Given the description of an element on the screen output the (x, y) to click on. 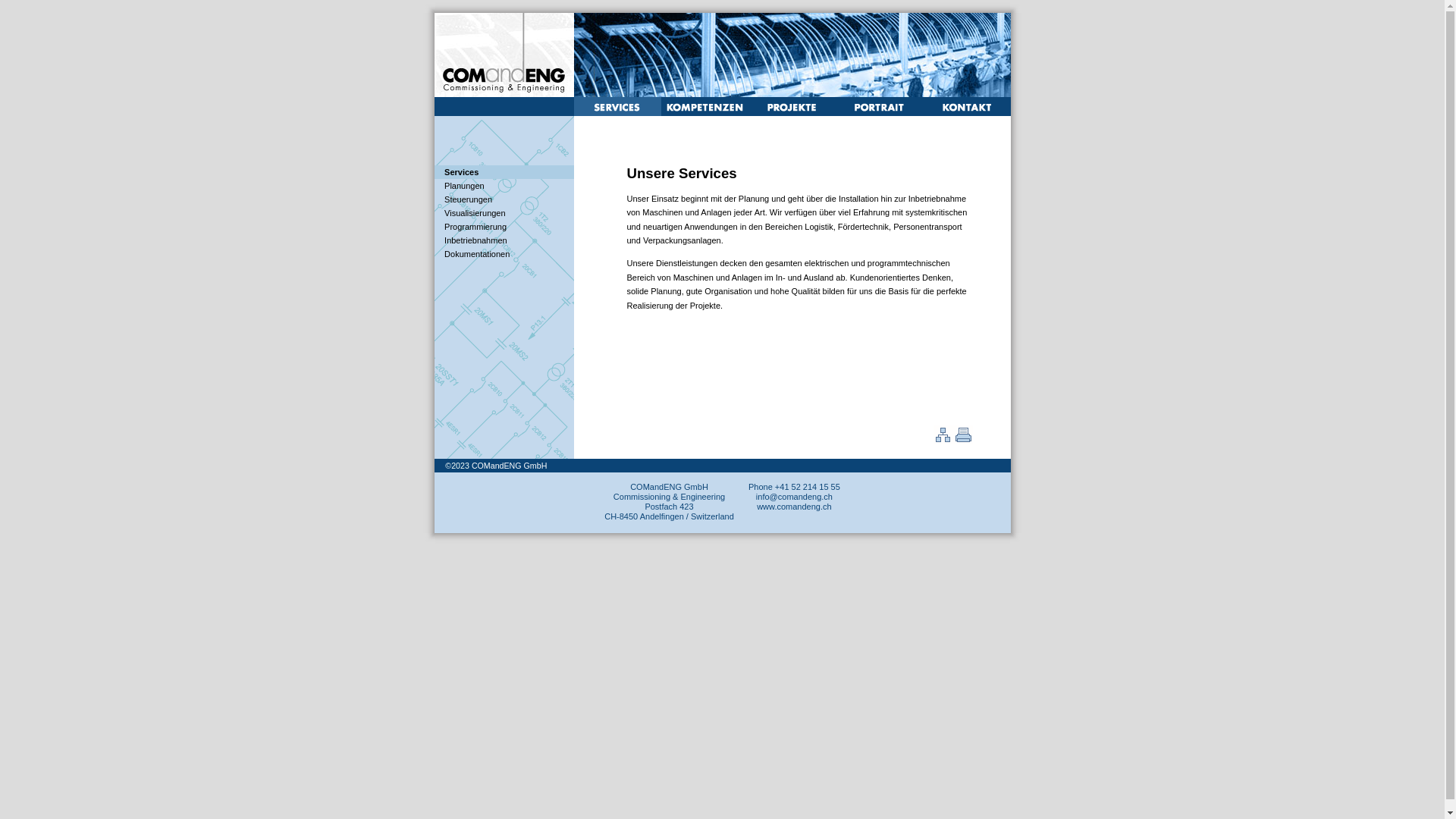
info@comandeng.ch Element type: text (794, 496)
Dokumentationen Element type: text (476, 253)
Steuerungen Element type: text (468, 198)
Projekte Element type: hover (790, 112)
Planungen Element type: text (464, 185)
Adresse & Kontaktformular Element type: hover (966, 111)
Portrait Element type: hover (878, 112)
Unsere Services Element type: hover (616, 112)
Kompetenzen Element type: hover (704, 112)
Services Element type: text (461, 171)
Druckversion Element type: hover (962, 440)
COMandENG GmbH Element type: text (508, 465)
Programmierung Element type: text (475, 226)
Inbetriebnahmen Element type: text (475, 239)
Visualisierungen Element type: text (474, 212)
Sitemap Element type: hover (942, 440)
www.comandeng.ch Element type: text (793, 506)
